Given the description of an element on the screen output the (x, y) to click on. 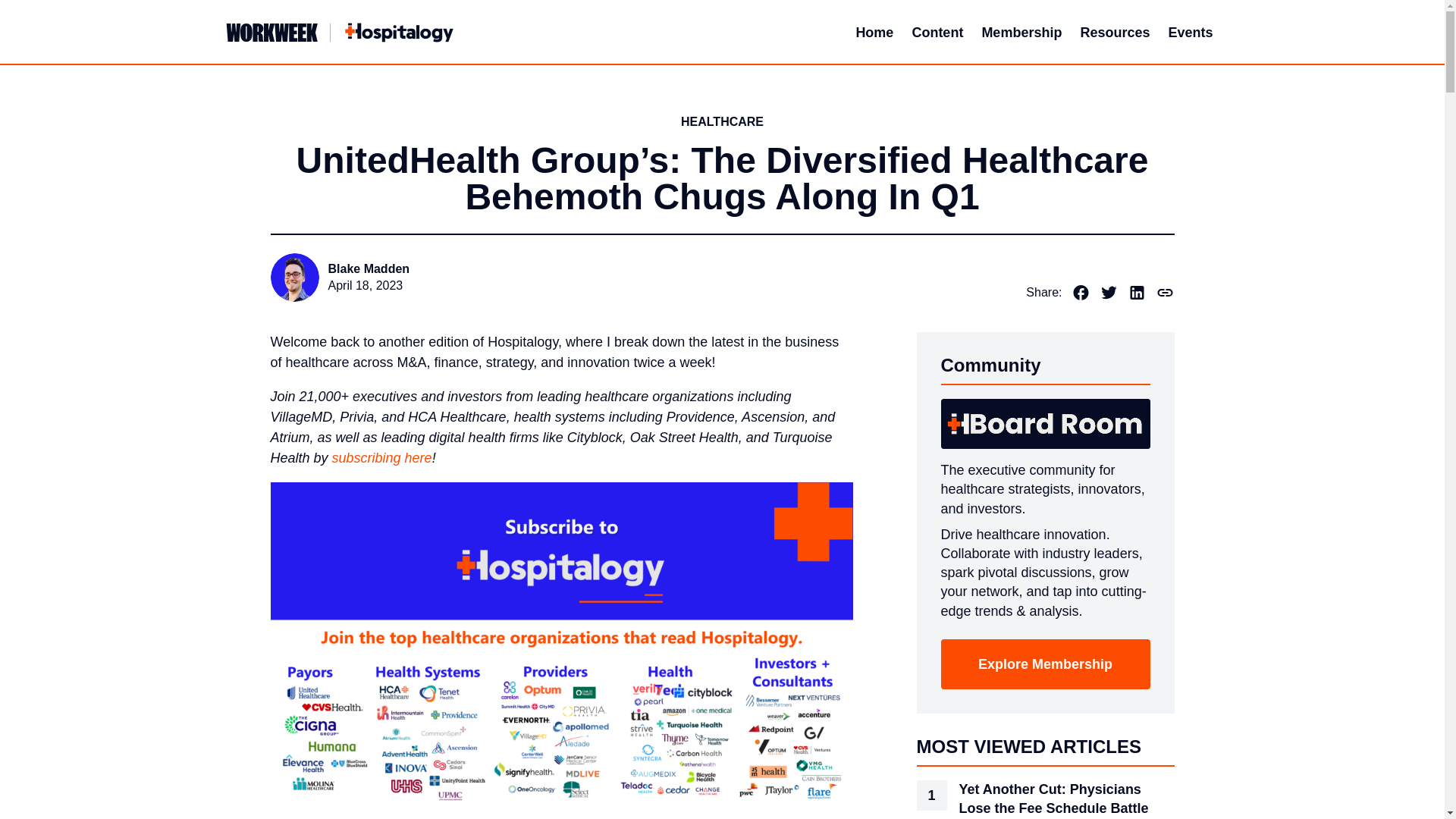
Resources (1115, 32)
Home (873, 32)
Content (937, 32)
HEALTHCARE (721, 121)
Membership (1021, 32)
subscribing here (381, 458)
Events (1189, 32)
